Given the description of an element on the screen output the (x, y) to click on. 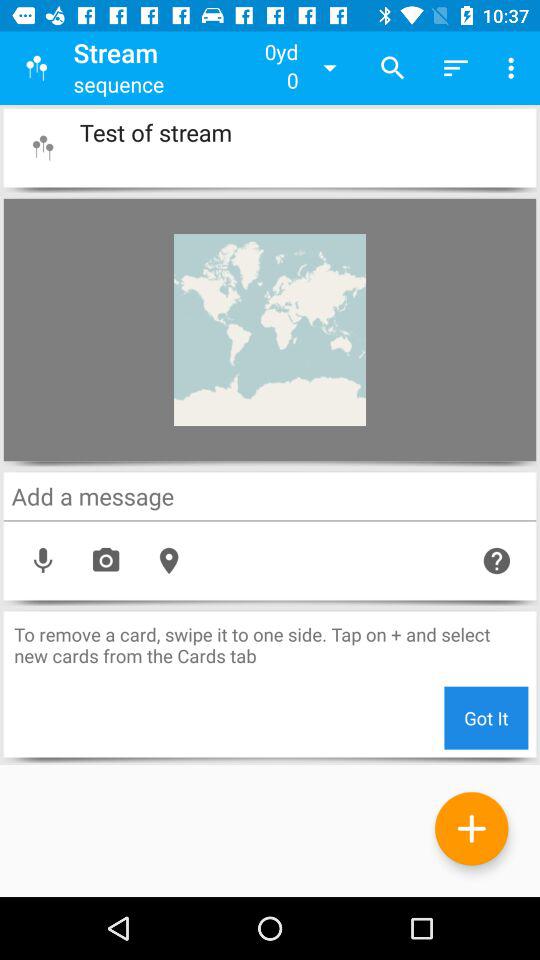
write message (269, 496)
